Given the description of an element on the screen output the (x, y) to click on. 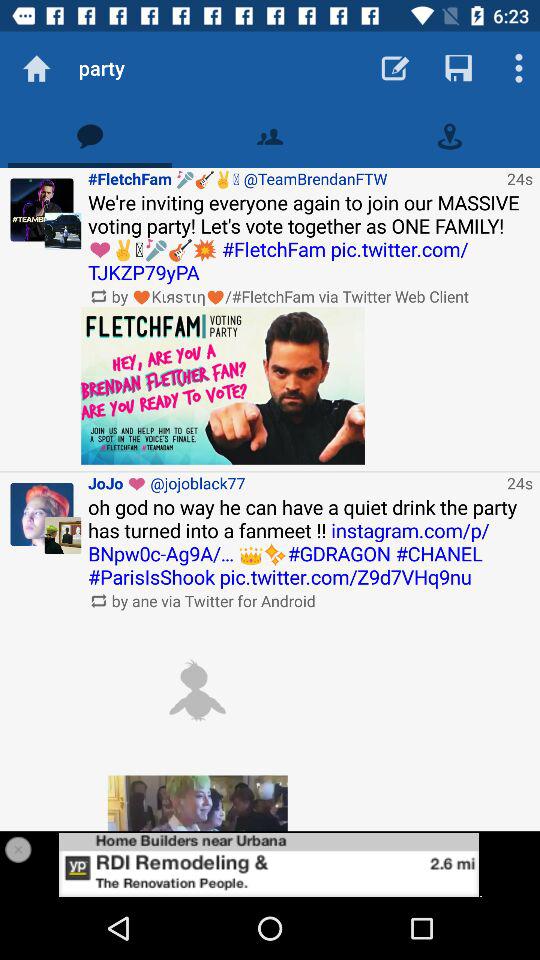
click profile (41, 209)
